Given the description of an element on the screen output the (x, y) to click on. 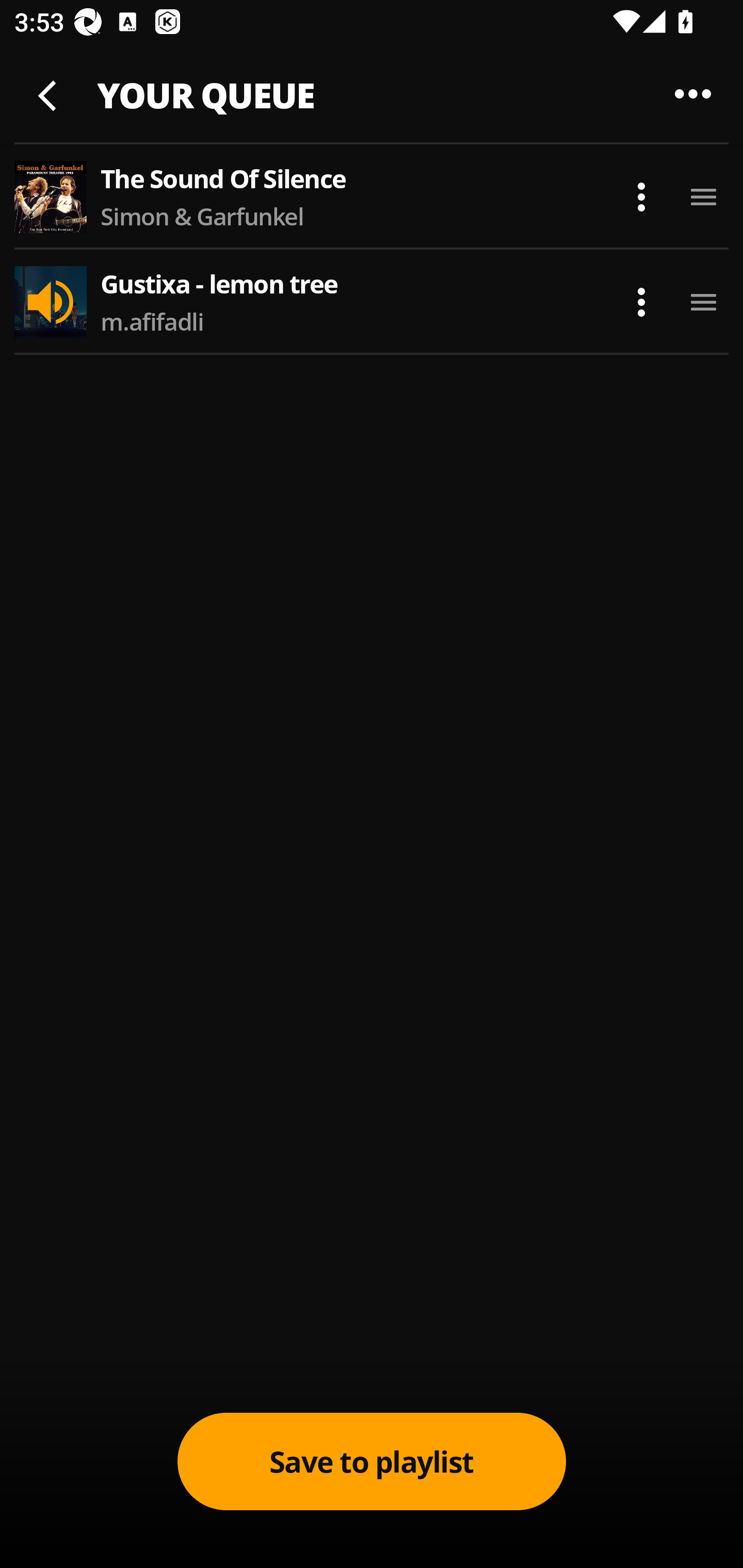
Minimise player (49, 93)
Queue (693, 93)
Actions (627, 196)
Actions (627, 301)
Save to playlist (371, 1460)
